Given the description of an element on the screen output the (x, y) to click on. 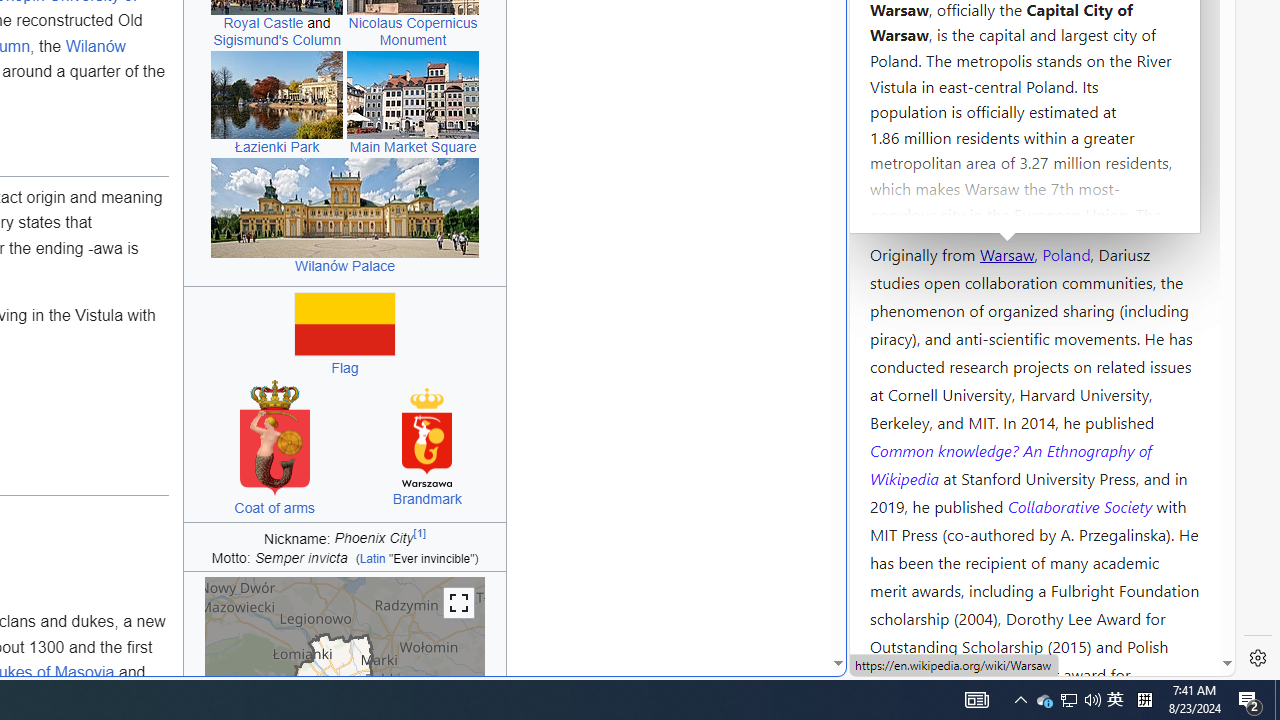
Common knowledge? An Ethnography of Wikipedia (1010, 463)
Flag of Warsaw (345, 324)
Kozminski University (1034, 136)
Official logo of Warsaw (427, 438)
Royal Castle (263, 23)
Warsaw (1006, 253)
Coat of arms of Warsaw (274, 437)
Coat of arms of Warsaw (274, 437)
Sigismund's Column (276, 39)
[1] (420, 533)
Collaborative Society  (1082, 505)
